Given the description of an element on the screen output the (x, y) to click on. 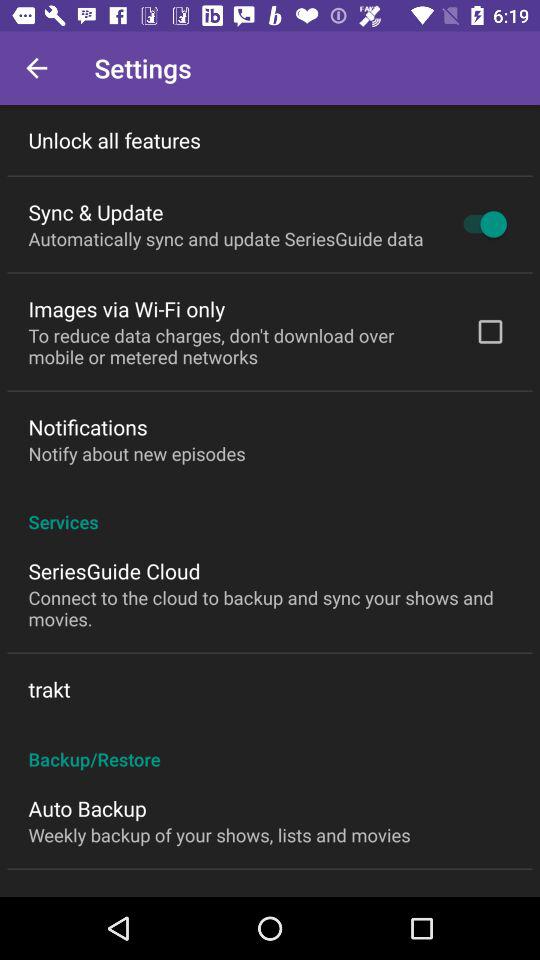
launch the item above seriesguide cloud item (269, 511)
